Given the description of an element on the screen output the (x, y) to click on. 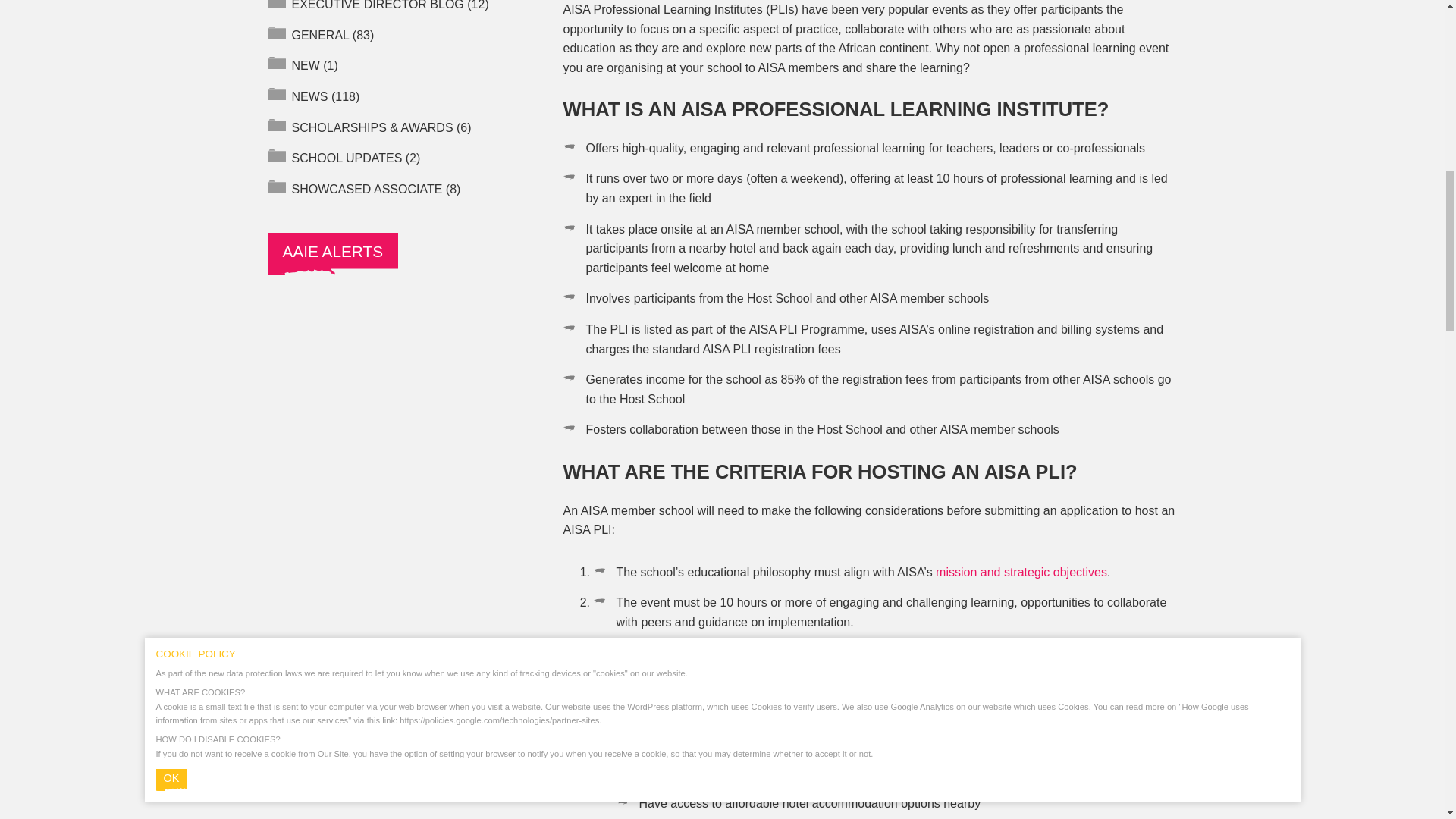
mission and strategic objectives (1021, 571)
